Given the description of an element on the screen output the (x, y) to click on. 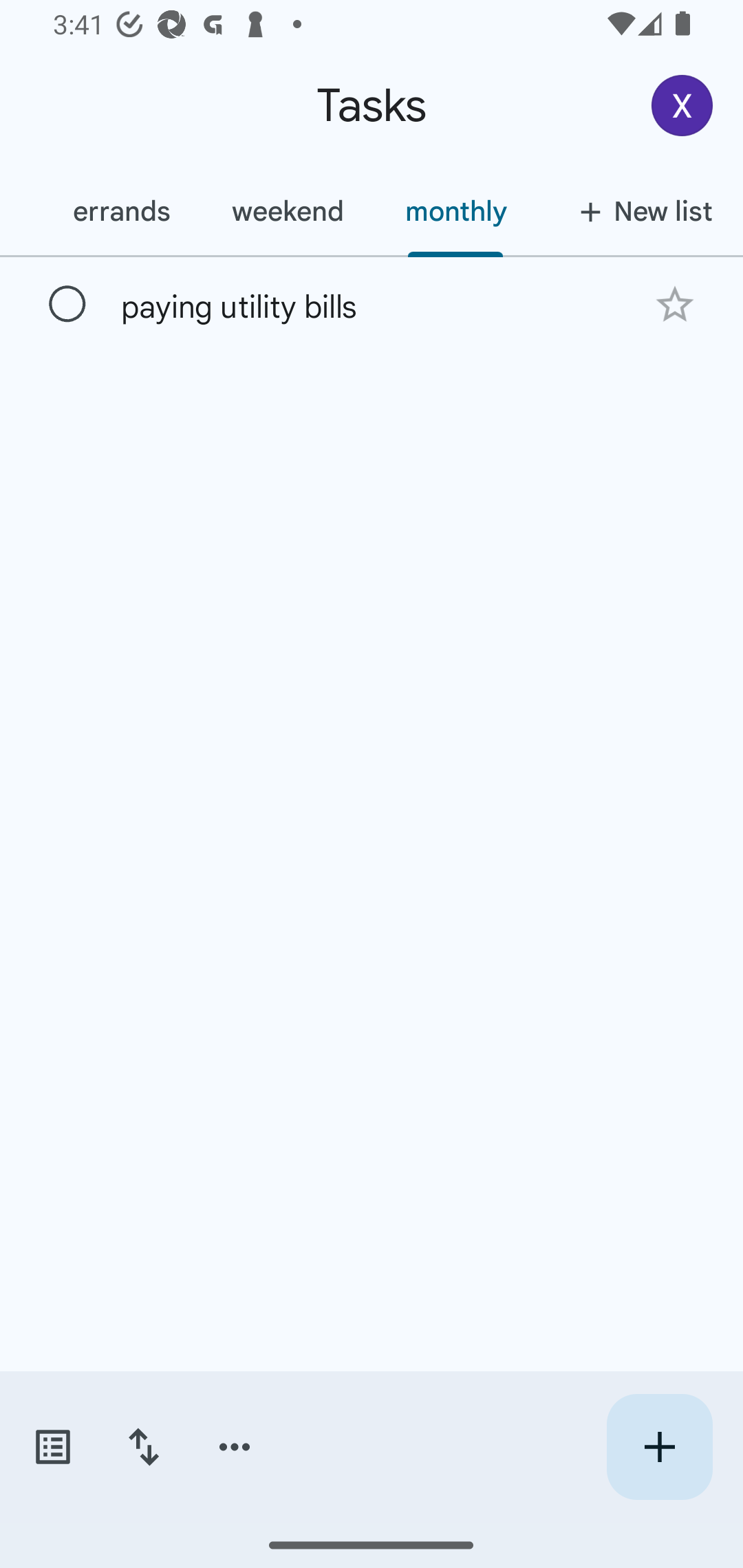
errands (120, 211)
weekend (287, 211)
New list (640, 211)
Add star (674, 303)
Mark as complete (67, 304)
Switch task lists (52, 1447)
Create new task (659, 1446)
Change sort order (143, 1446)
More options (234, 1446)
